Given the description of an element on the screen output the (x, y) to click on. 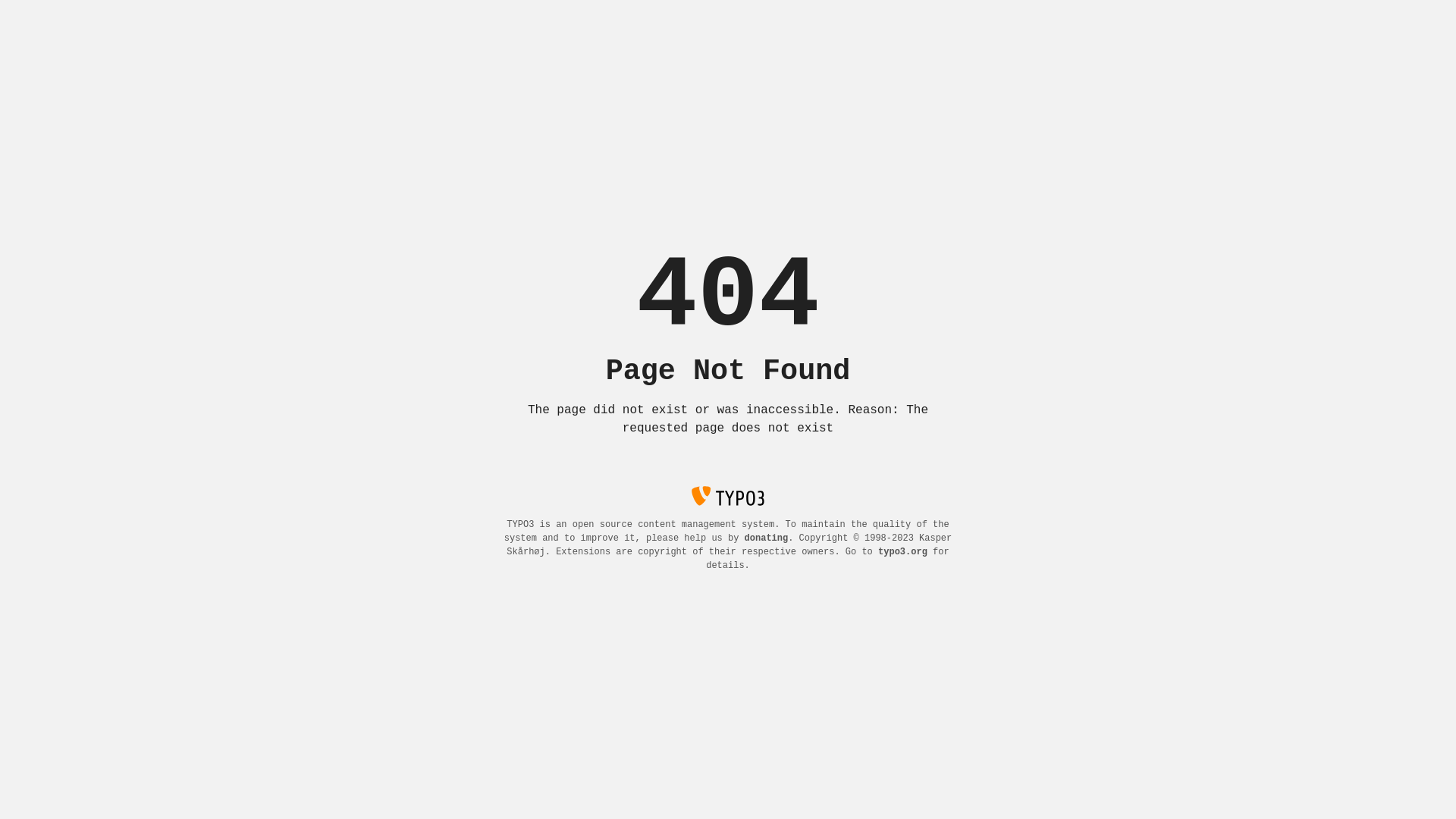
typo3.org Element type: text (902, 551)
donating Element type: text (766, 538)
